Given the description of an element on the screen output the (x, y) to click on. 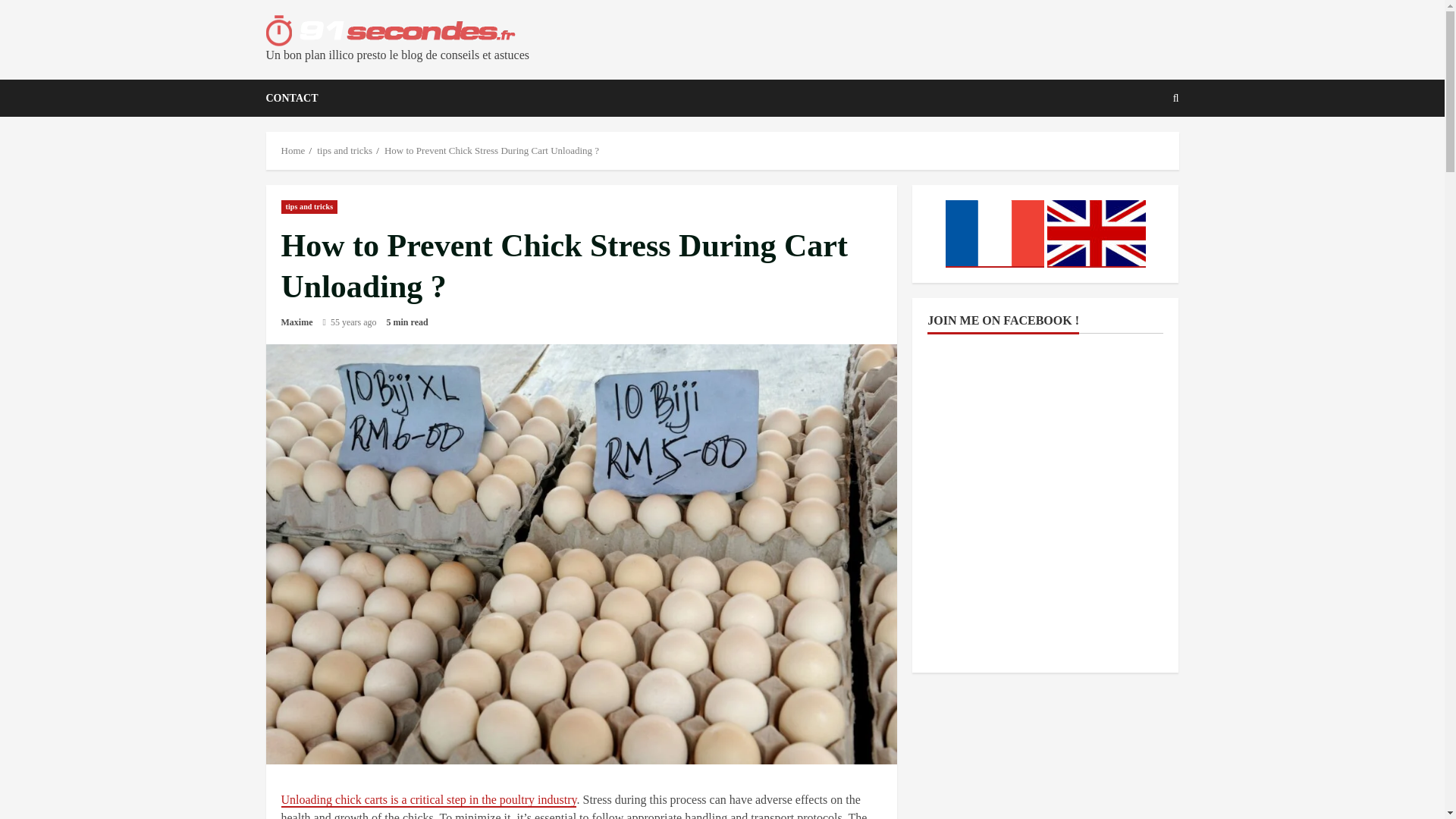
Home (292, 150)
CONTACT (290, 98)
tips and tricks (344, 150)
Maxime (297, 322)
How to Prevent Chick Stress During Cart Unloading ? (491, 150)
Search (1139, 149)
tips and tricks (309, 206)
